Given the description of an element on the screen output the (x, y) to click on. 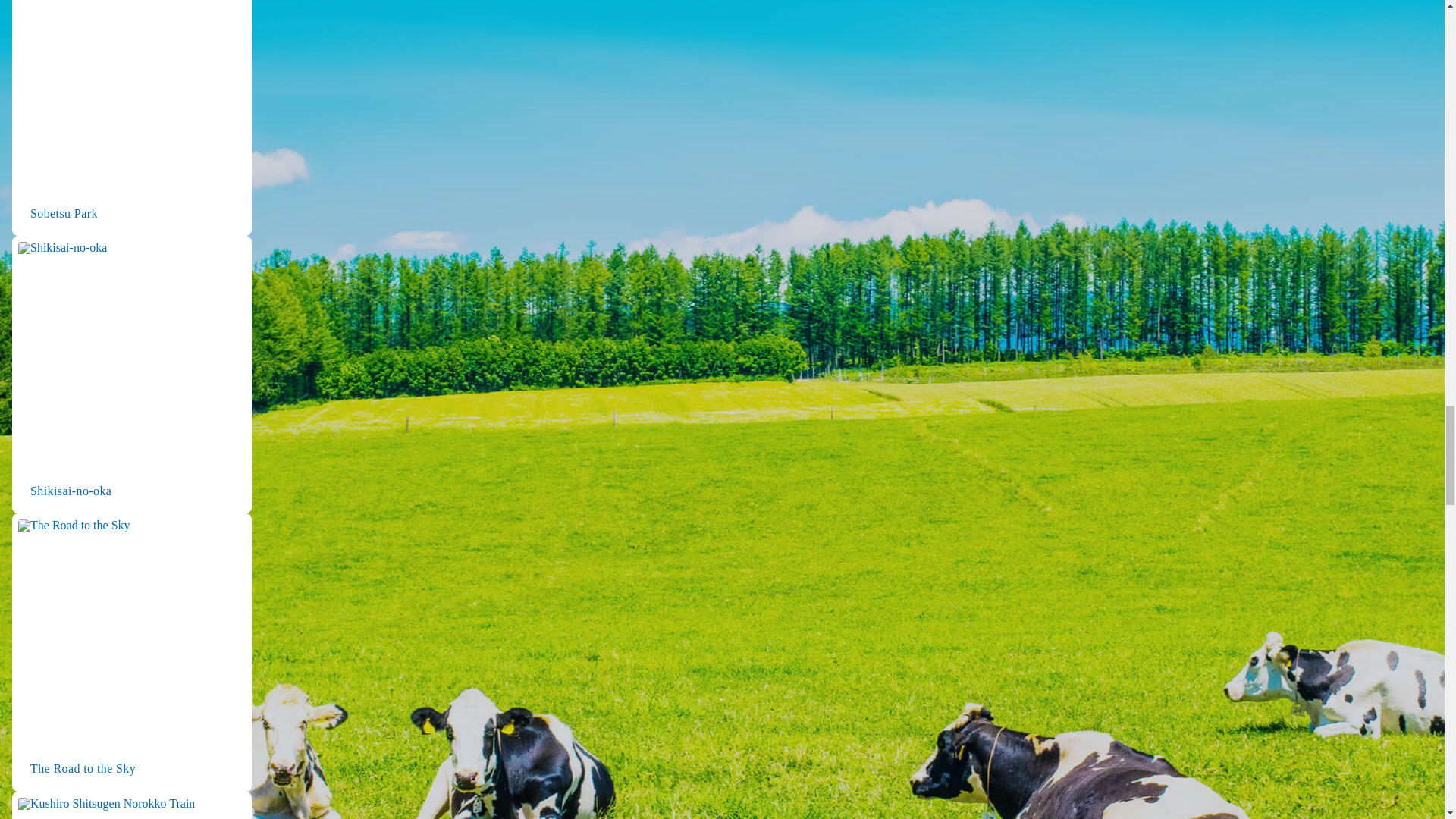
Sobetsu Park (131, 117)
Kushiro Shitsugen Norokko Train (131, 805)
